Given the description of an element on the screen output the (x, y) to click on. 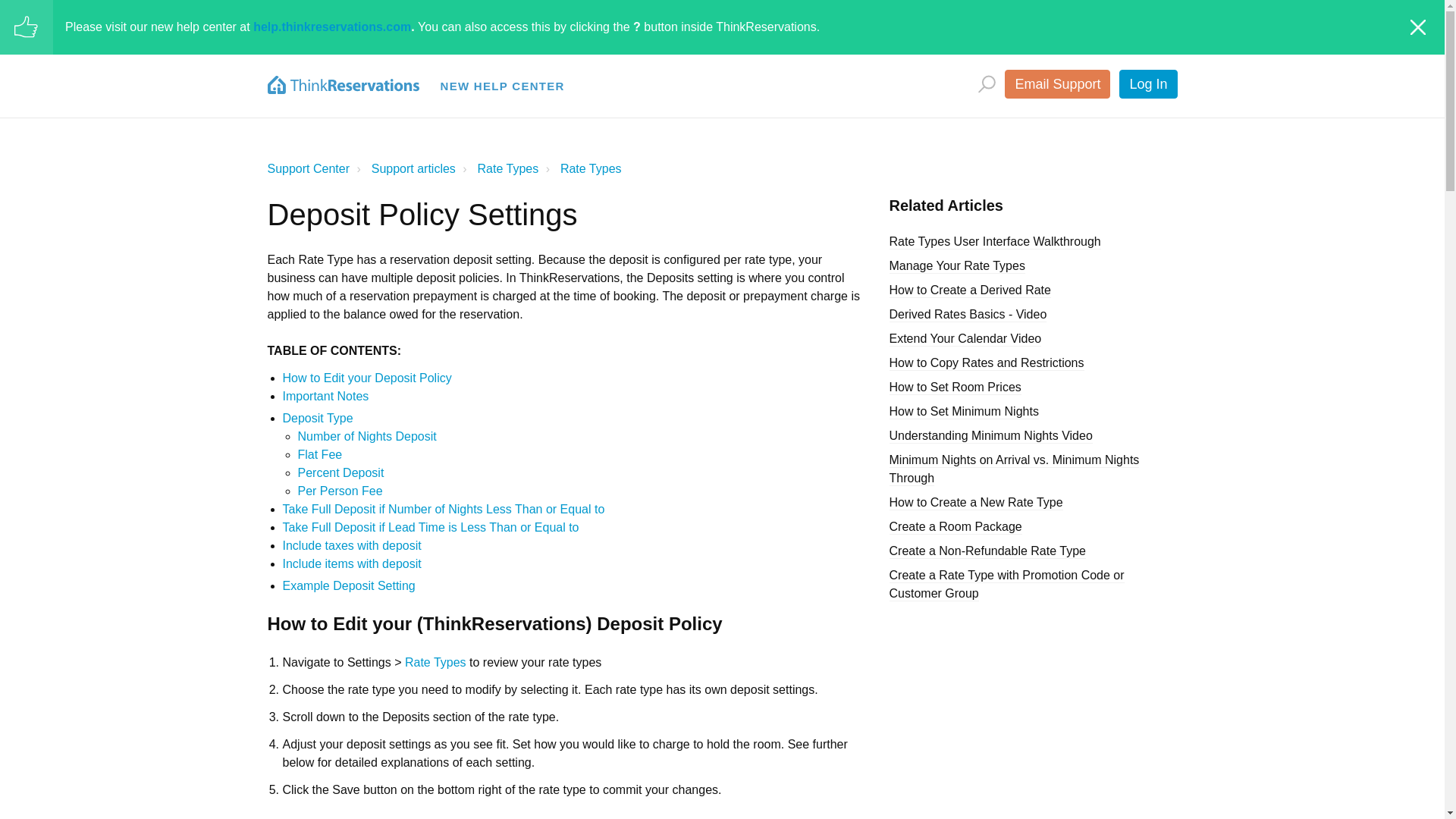
Rate Types (581, 168)
Rate Types (590, 168)
Support Center (307, 168)
Important Notes (325, 395)
Take Full Deposit if Lead Time is Less Than or Equal to (430, 526)
Percent Deposit (340, 472)
How to Set Minimum Nights (963, 411)
Extend Your Calendar Video (964, 339)
Rate Types (434, 662)
Manage Your Rate Types (956, 266)
Take Full Deposit if Number of Nights Less Than or Equal to (443, 508)
Email Support (1056, 83)
Deposit Type (317, 418)
Rate Types User Interface Walkthrough (994, 242)
How to Create a Derived Rate (968, 290)
